Given the description of an element on the screen output the (x, y) to click on. 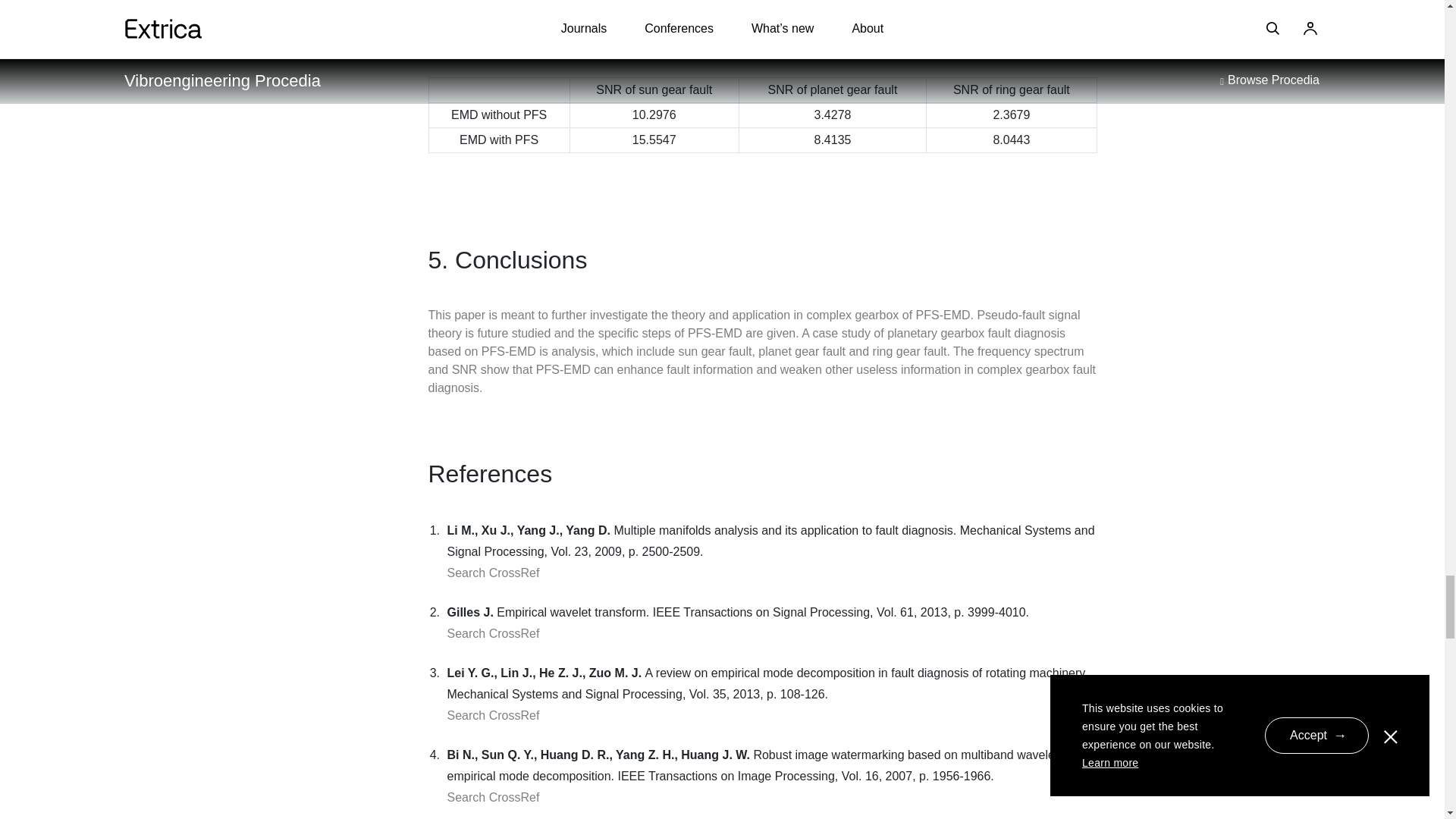
Search CrossRef (493, 715)
Search CrossRef (493, 797)
Search CrossRef (493, 572)
Search CrossRef (493, 633)
